Given the description of an element on the screen output the (x, y) to click on. 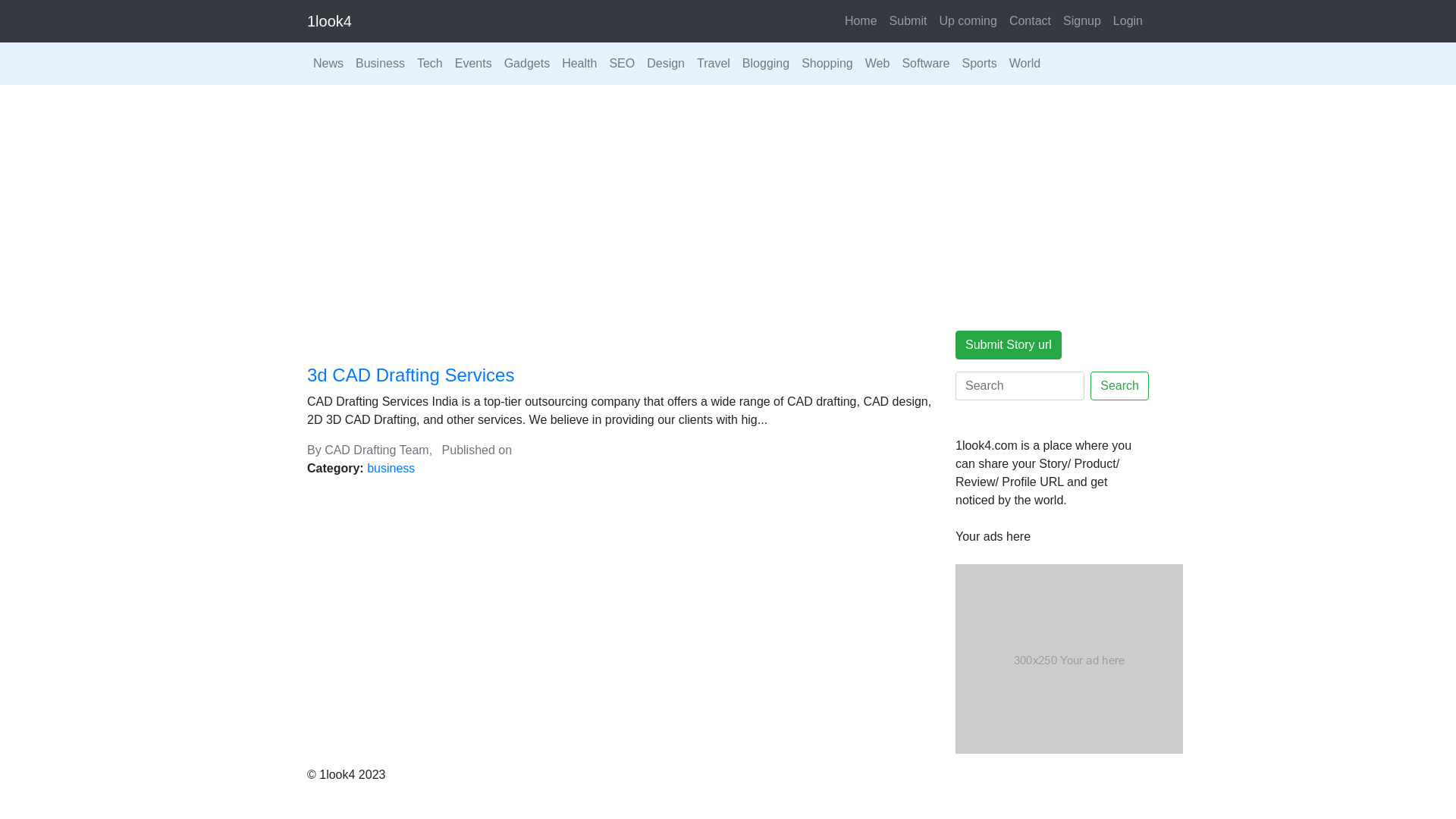
Shopping Element type: text (827, 63)
Tech Element type: text (429, 63)
Up coming Element type: text (967, 21)
Advertisement Element type: hover (728, 198)
Contact Element type: text (1030, 21)
Gadgets Element type: text (526, 63)
Software Element type: text (925, 63)
Signup Element type: text (1082, 21)
Design Element type: text (665, 63)
Home Element type: text (860, 21)
Health Element type: text (578, 63)
CAD Drafting Team Element type: text (376, 449)
Search Element type: text (1119, 385)
Business Element type: text (380, 63)
News Element type: text (328, 63)
World Element type: text (1025, 63)
Sports Element type: text (979, 63)
Submit Element type: text (908, 21)
Web Element type: text (877, 63)
Login Element type: text (1127, 21)
3d CAD Drafting Services Element type: text (410, 374)
Blogging Element type: text (765, 63)
SEO Element type: text (621, 63)
Submit Story url Element type: text (1008, 344)
business Element type: text (390, 467)
Travel Element type: text (713, 63)
Events Element type: text (473, 63)
1look4 Element type: text (329, 21)
